Given the description of an element on the screen output the (x, y) to click on. 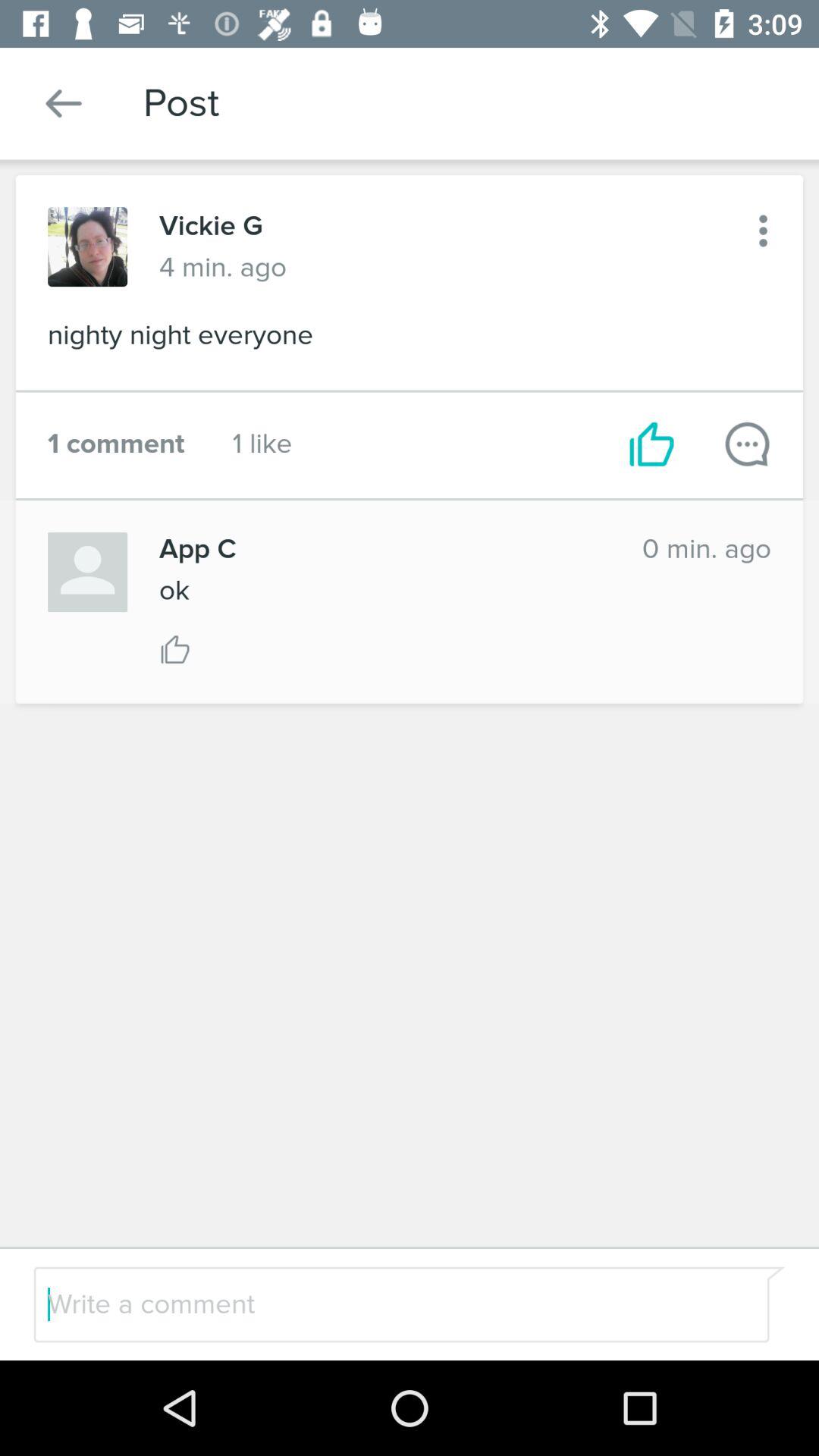
press icon next to the 1 comment icon (262, 443)
